Given the description of an element on the screen output the (x, y) to click on. 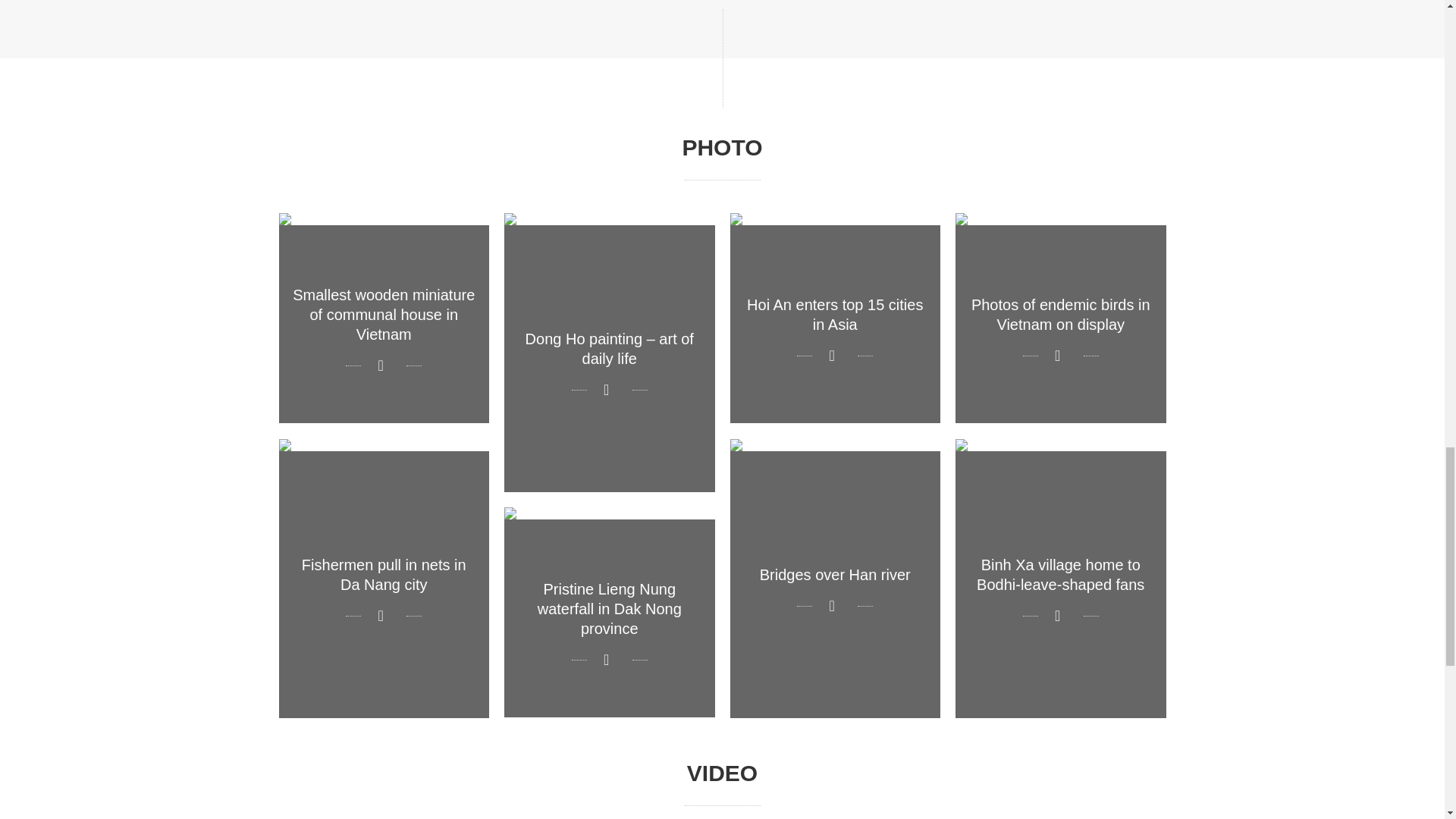
Hoi An enters top 15 cities in Asia (834, 317)
Photos of endemic birds in Vietnam on display (1060, 317)
PHOTO (722, 147)
Hoi An enters top 15 cities in Asia (834, 317)
Pristine Lieng Nung waterfall in Dak Nong province (608, 611)
Smallest wooden miniature of communal house in Vietnam (384, 317)
Photos of endemic birds in Vietnam on display (1060, 317)
Smallest wooden miniature of communal house in Vietnam (384, 317)
Video (722, 772)
Pristine Lieng Nung waterfall in Dak Nong province (608, 611)
